Given the description of an element on the screen output the (x, y) to click on. 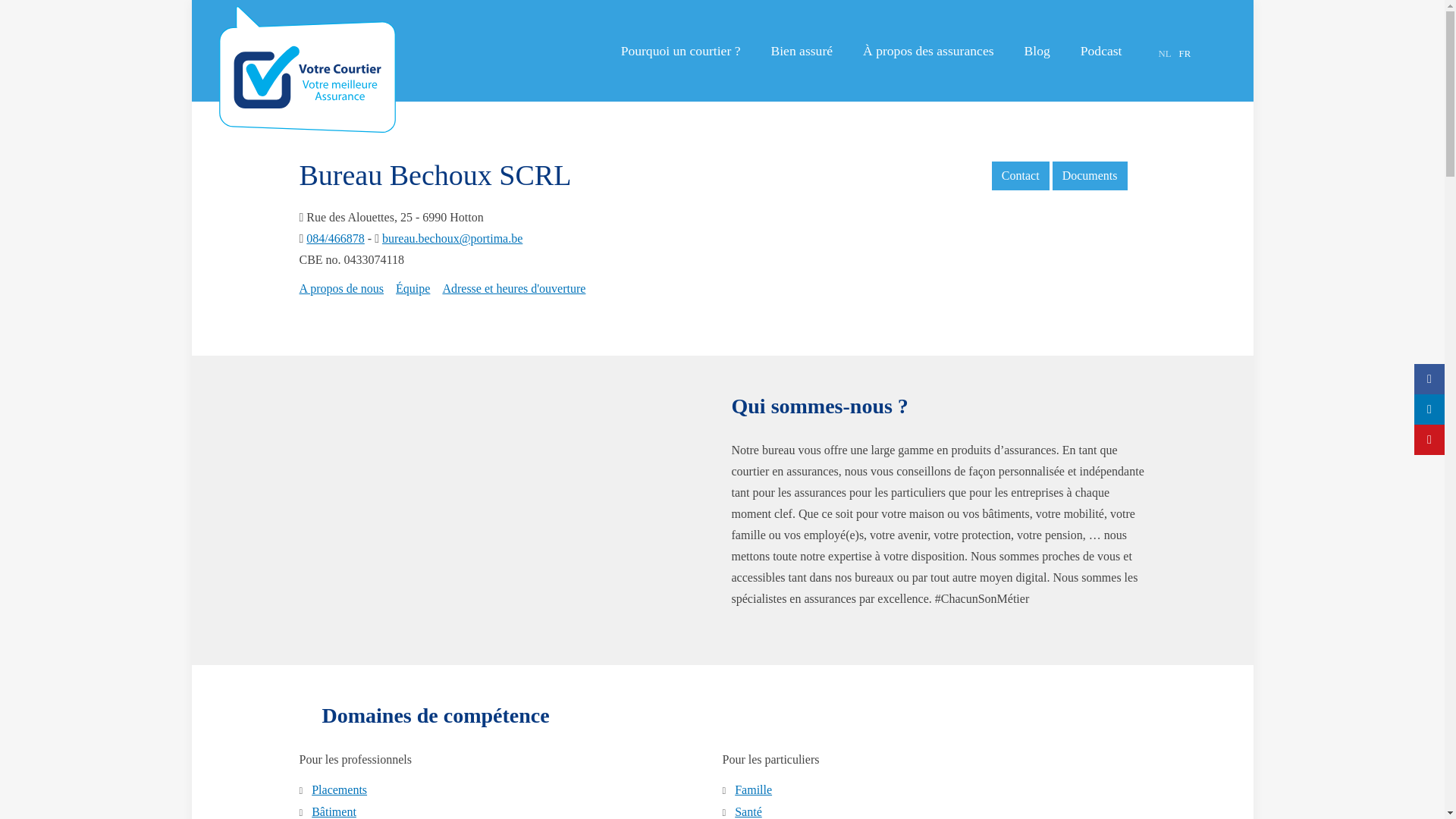
Placements Element type: text (339, 789)
Famille Element type: text (752, 789)
Pourquoi un courtier ? Element type: text (680, 50)
Contact Element type: text (1020, 175)
084/466878 Element type: text (335, 238)
A propos de nous Element type: text (340, 288)
FR Element type: text (1185, 53)
bureau.bechoux@portima.be Element type: text (452, 238)
Podcast Element type: text (1101, 50)
Adresse et heures d'ouverture Element type: text (513, 288)
Blog Element type: text (1036, 50)
NL Element type: text (1164, 53)
Documents Element type: text (1089, 175)
